Given the description of an element on the screen output the (x, y) to click on. 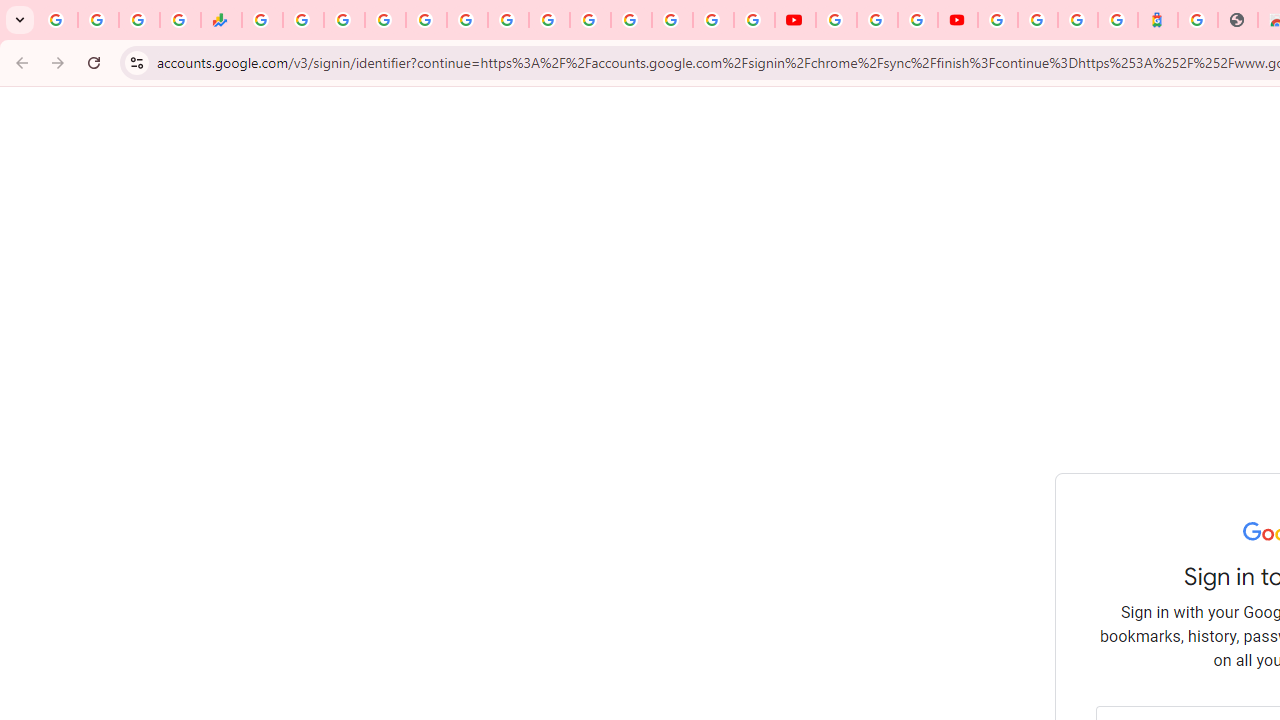
YouTube (548, 20)
Content Creator Programs & Opportunities - YouTube Creators (957, 20)
Android TV Policies and Guidelines - Transparency Center (507, 20)
YouTube (795, 20)
Sign in - Google Accounts (589, 20)
Google Workspace Admin Community (57, 20)
Sign in - Google Accounts (997, 20)
Create your Google Account (918, 20)
